Given the description of an element on the screen output the (x, y) to click on. 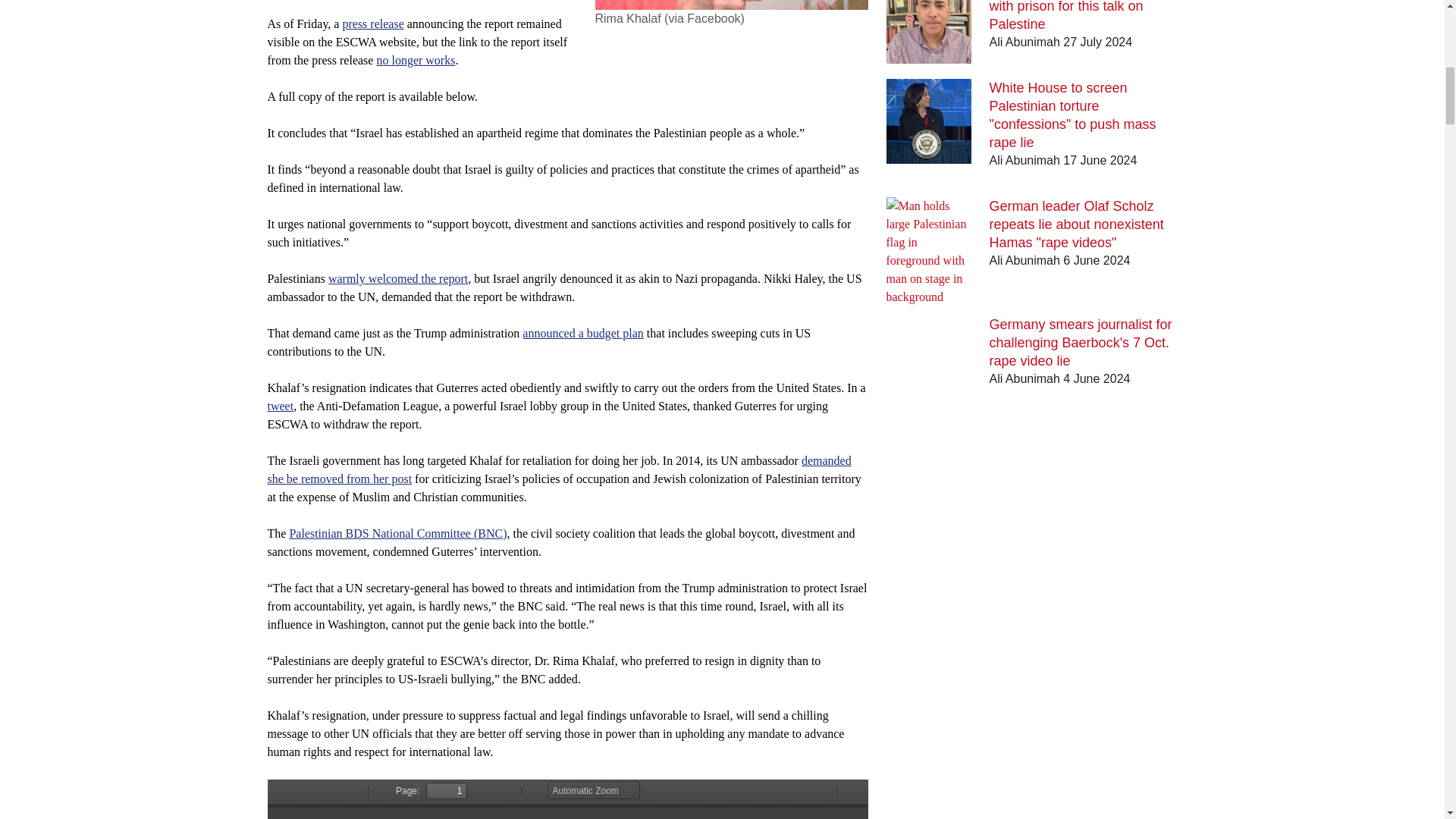
via Facebook (703, 18)
announced a budget plan (582, 332)
press release (372, 23)
warmly welcomed the report (398, 278)
no longer works (414, 60)
demanded she be removed from her post (558, 469)
tweet (280, 405)
